Given the description of an element on the screen output the (x, y) to click on. 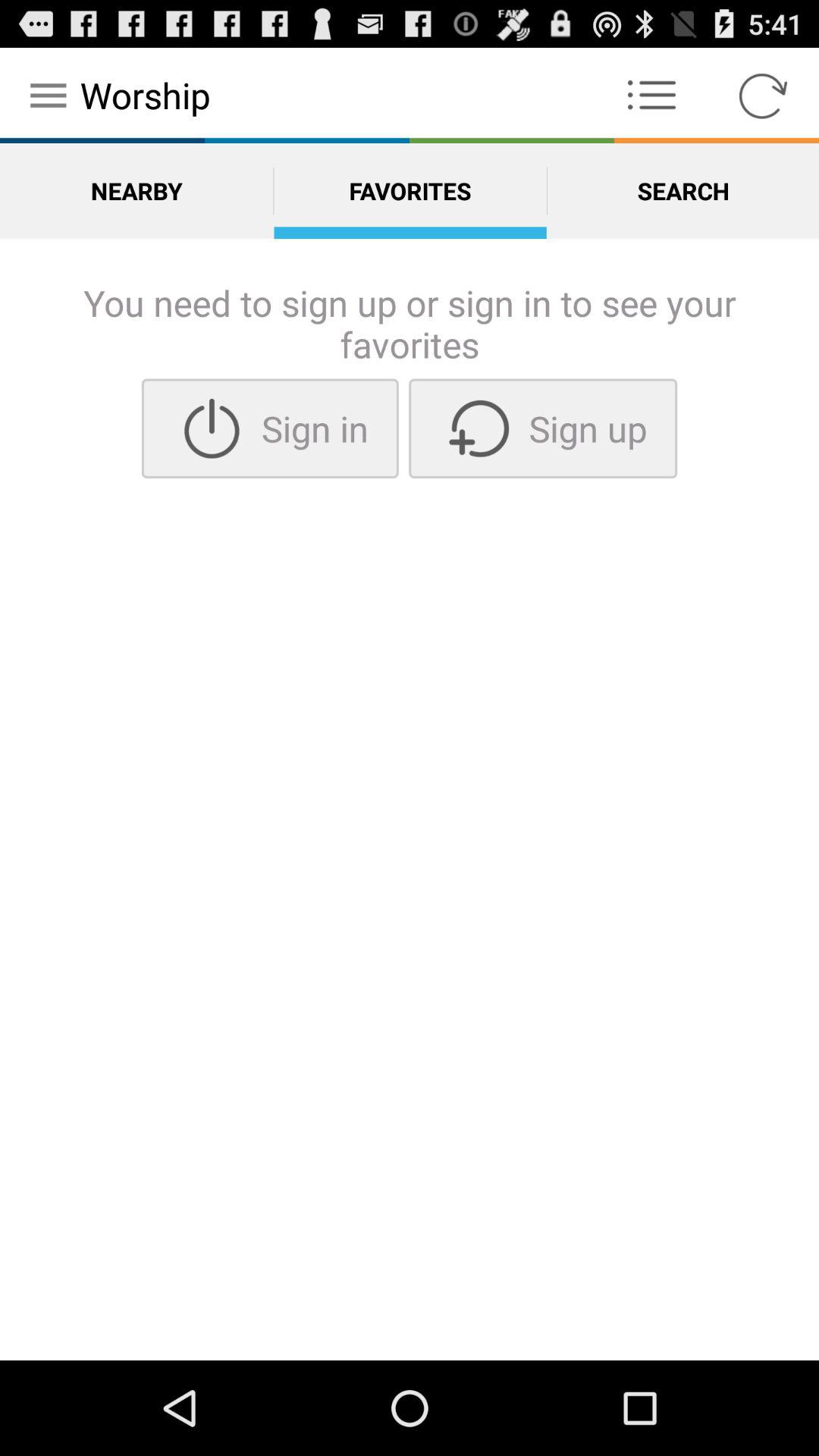
launch item above search app (763, 95)
